Given the description of an element on the screen output the (x, y) to click on. 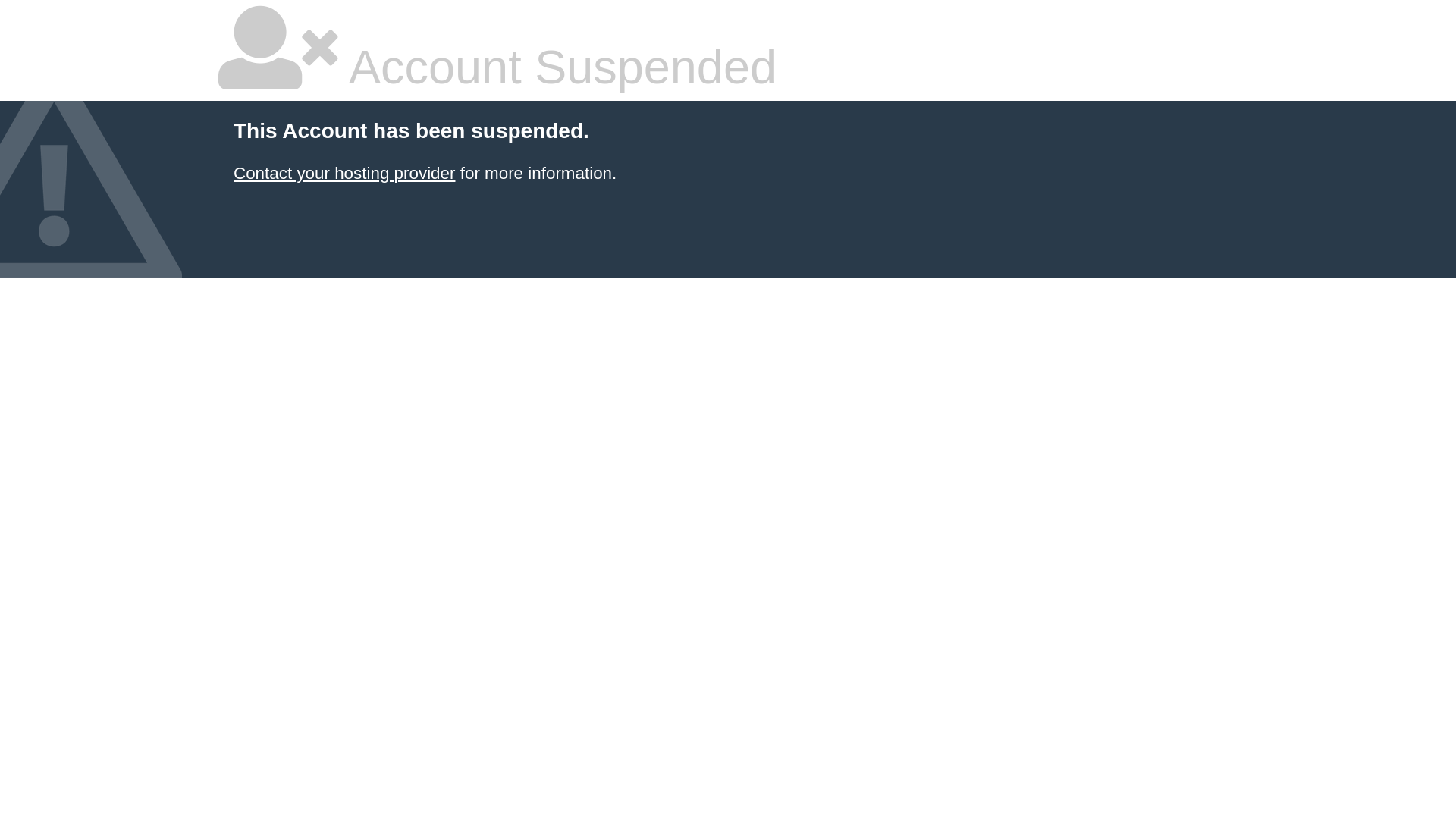
Contact your hosting provider Element type: text (344, 172)
